Given the description of an element on the screen output the (x, y) to click on. 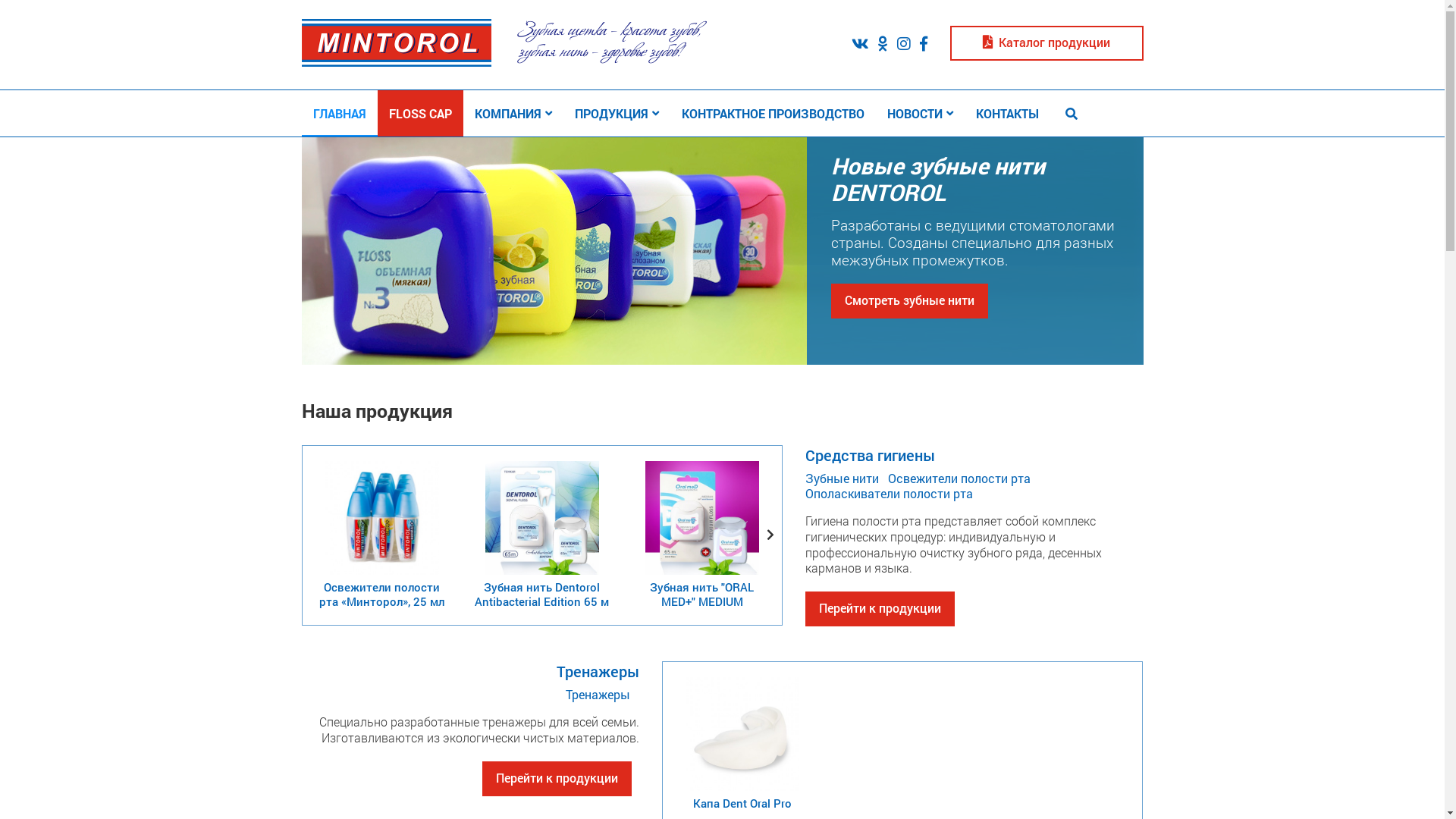
FLOSS CAP Element type: text (420, 113)
